Given the description of an element on the screen output the (x, y) to click on. 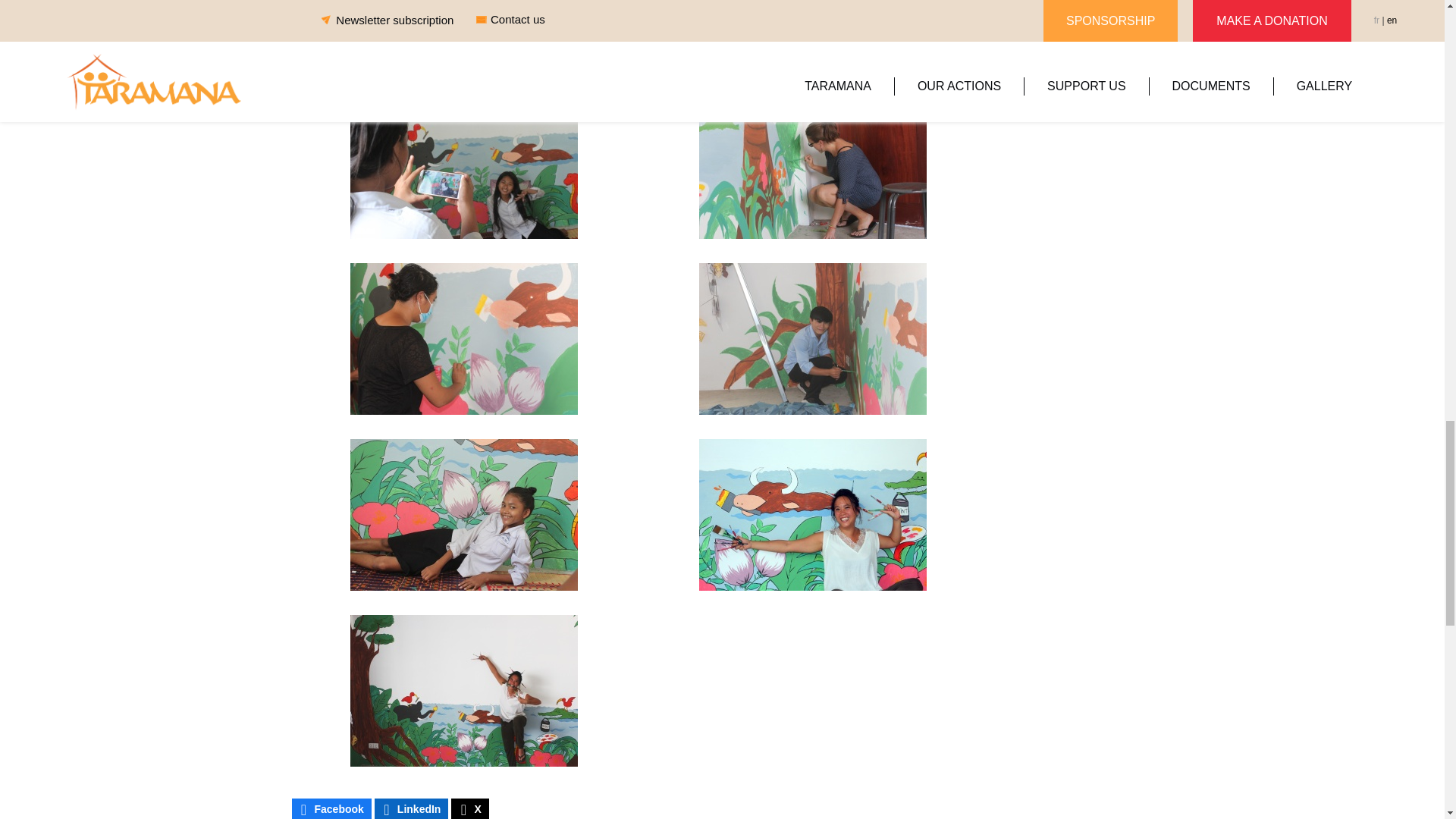
Share this article on X (469, 808)
Share this article on LinkedIn (411, 808)
Share this article on Facebook (331, 808)
